Given the description of an element on the screen output the (x, y) to click on. 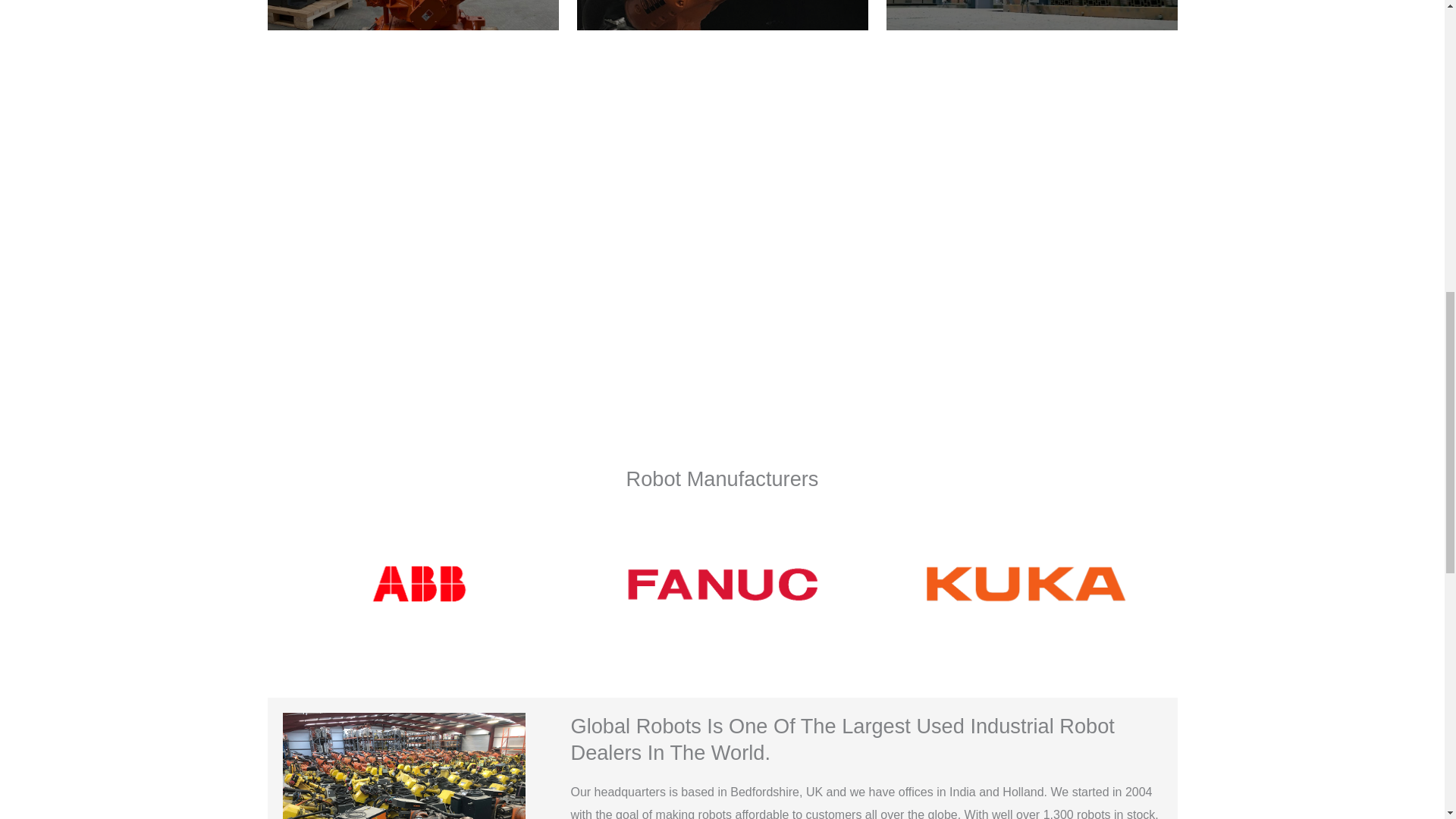
Robotic Systems (1030, 15)
Servicing (721, 15)
Robot Stock list (411, 15)
